Given the description of an element on the screen output the (x, y) to click on. 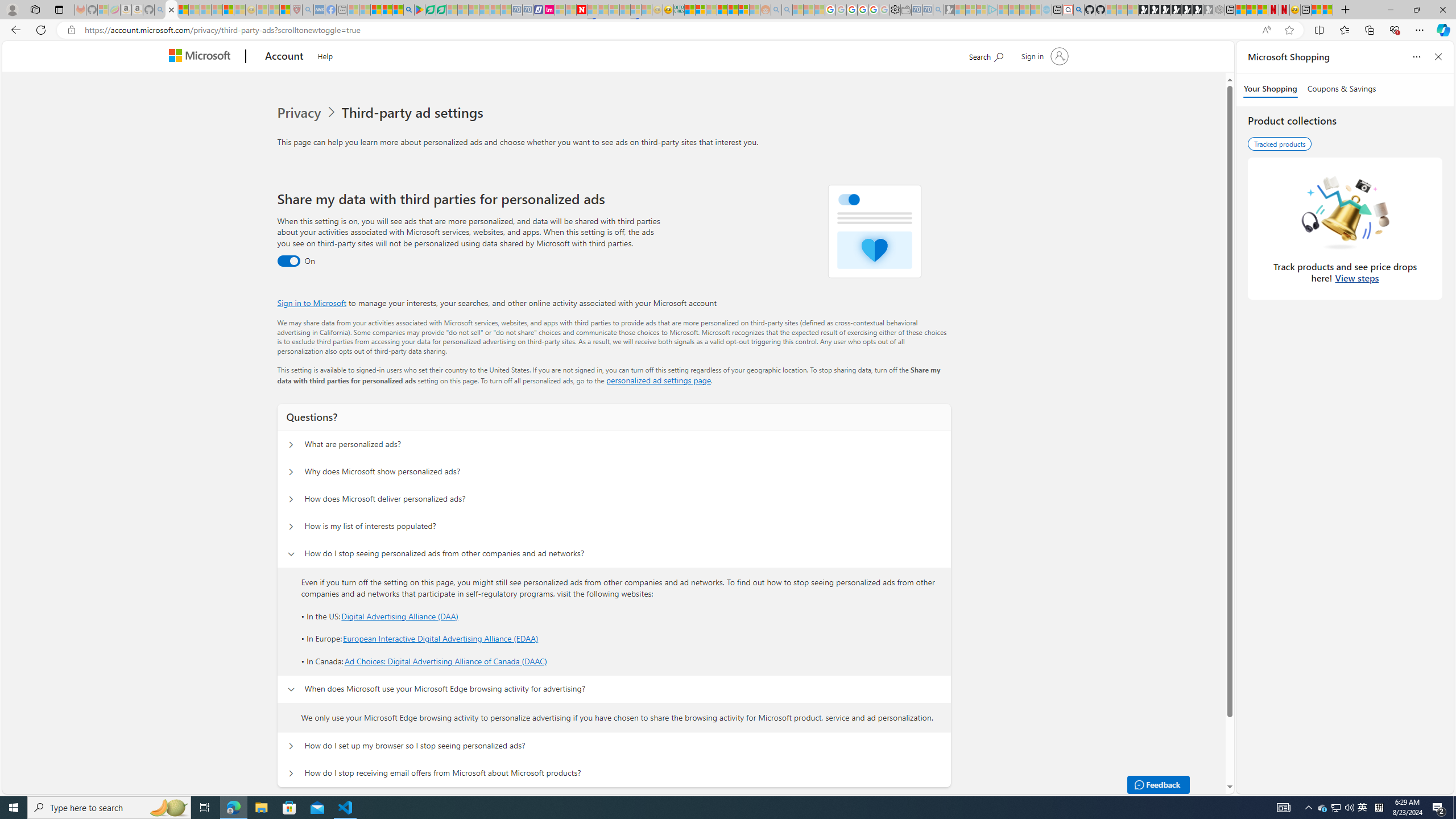
Account (283, 56)
